Given the description of an element on the screen output the (x, y) to click on. 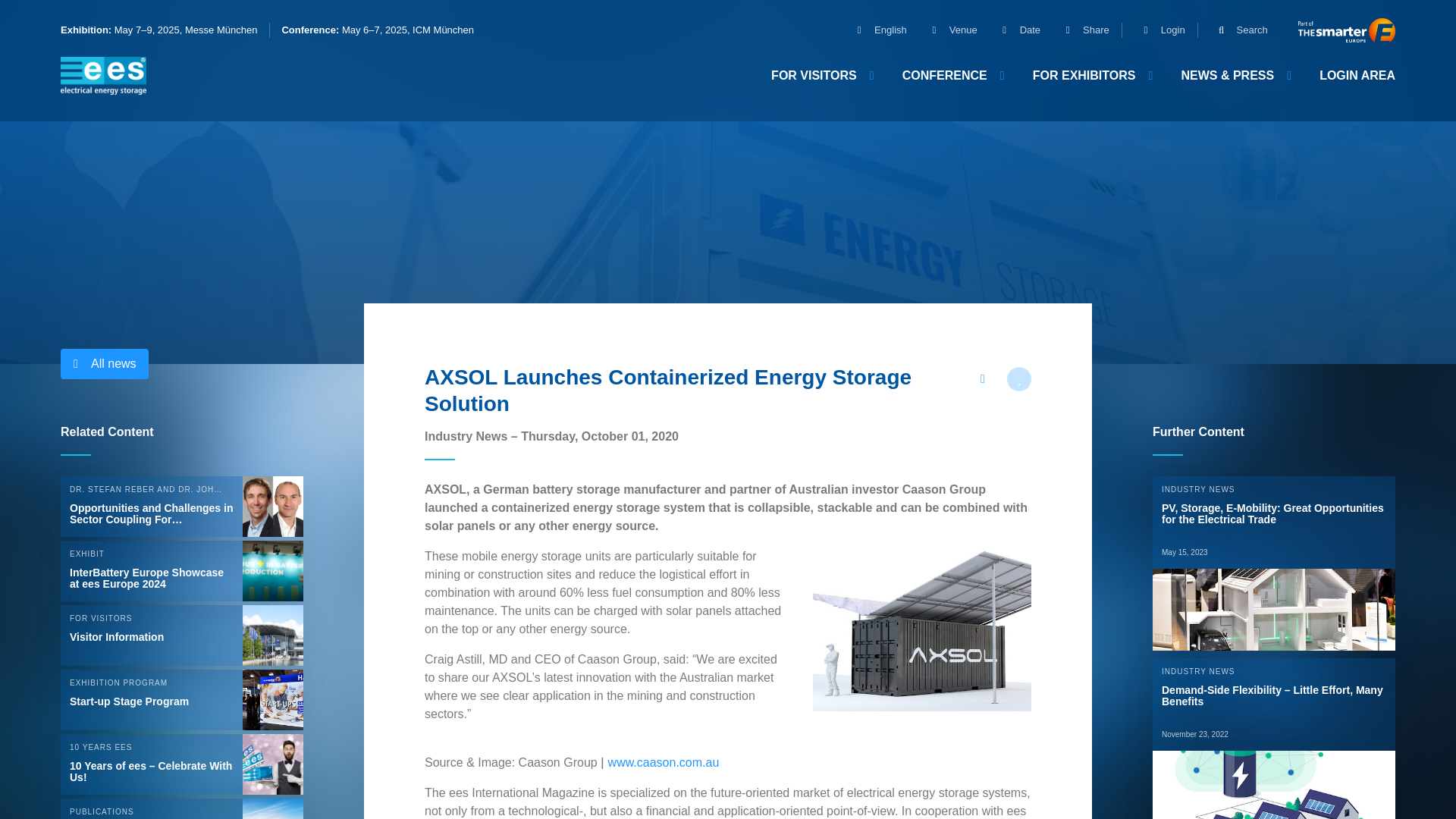
Share (1080, 30)
Date (1015, 30)
Login (1158, 30)
English (875, 30)
www.caason.com.au (663, 762)
Change Language (875, 30)
Share (1080, 30)
Venue (947, 30)
Date (1015, 30)
Share this page (982, 378)
